Given the description of an element on the screen output the (x, y) to click on. 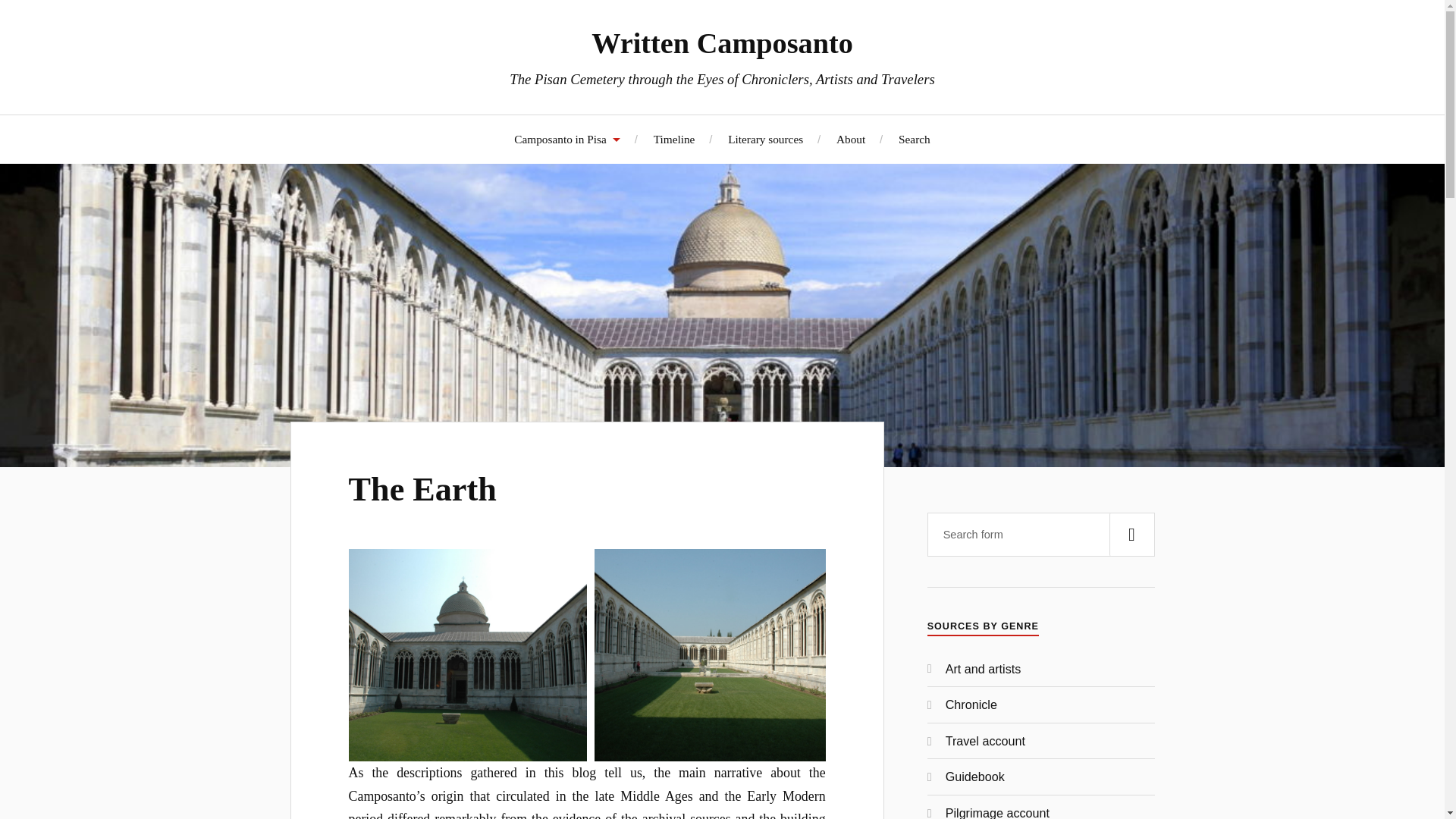
Camposanto in Pisa (566, 138)
Written Camposanto (722, 42)
Chronicle (970, 704)
Travel account (984, 740)
Literary sources (765, 138)
The Earth (422, 488)
Pilgrimage account (996, 812)
Guidebook (974, 775)
Art and artists (983, 668)
